Given the description of an element on the screen output the (x, y) to click on. 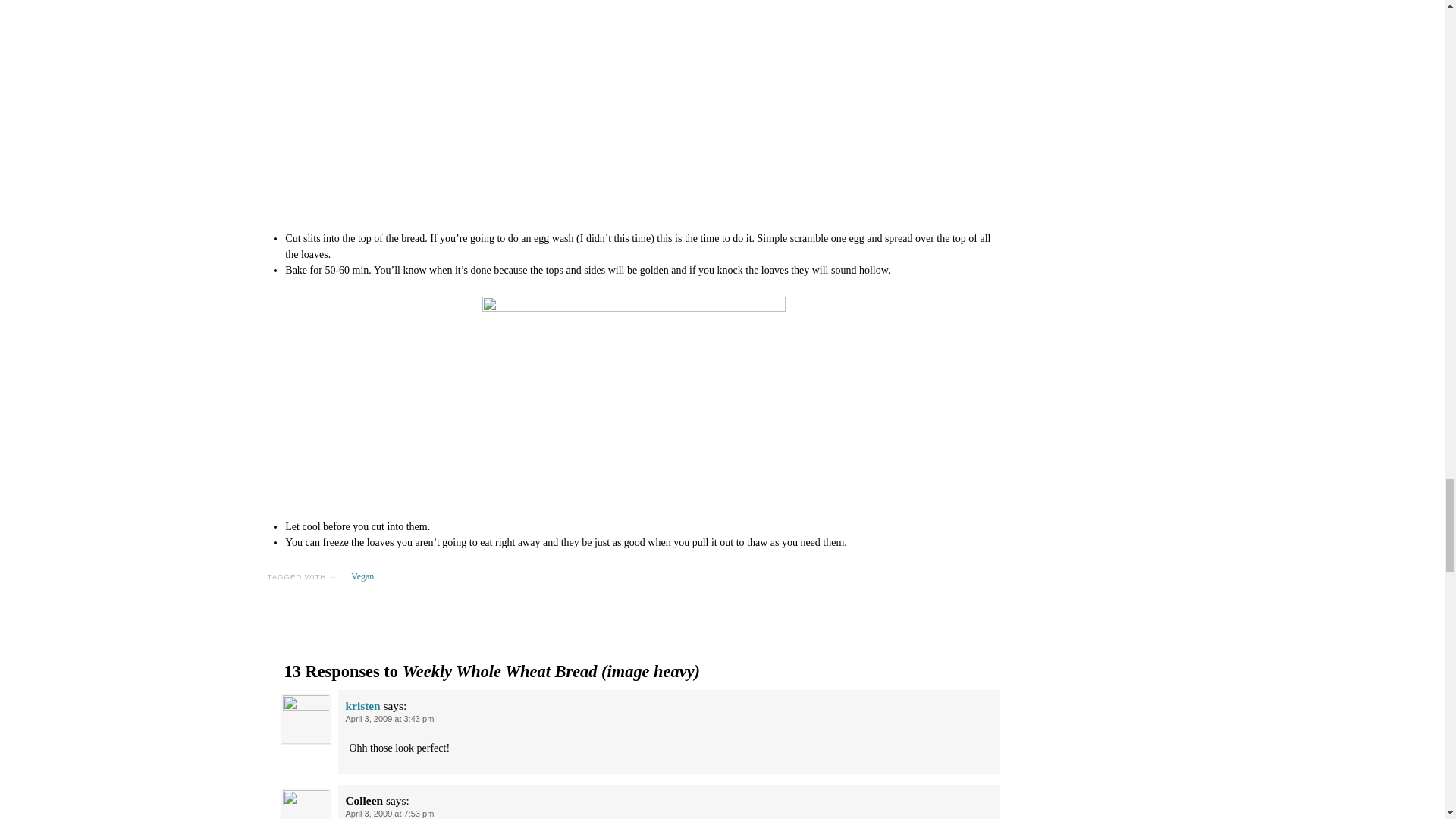
kristen (363, 705)
Vegan (362, 575)
April 3, 2009 at 7:53 pm (389, 813)
April 3, 2009 at 3:43 pm (389, 718)
